Given the description of an element on the screen output the (x, y) to click on. 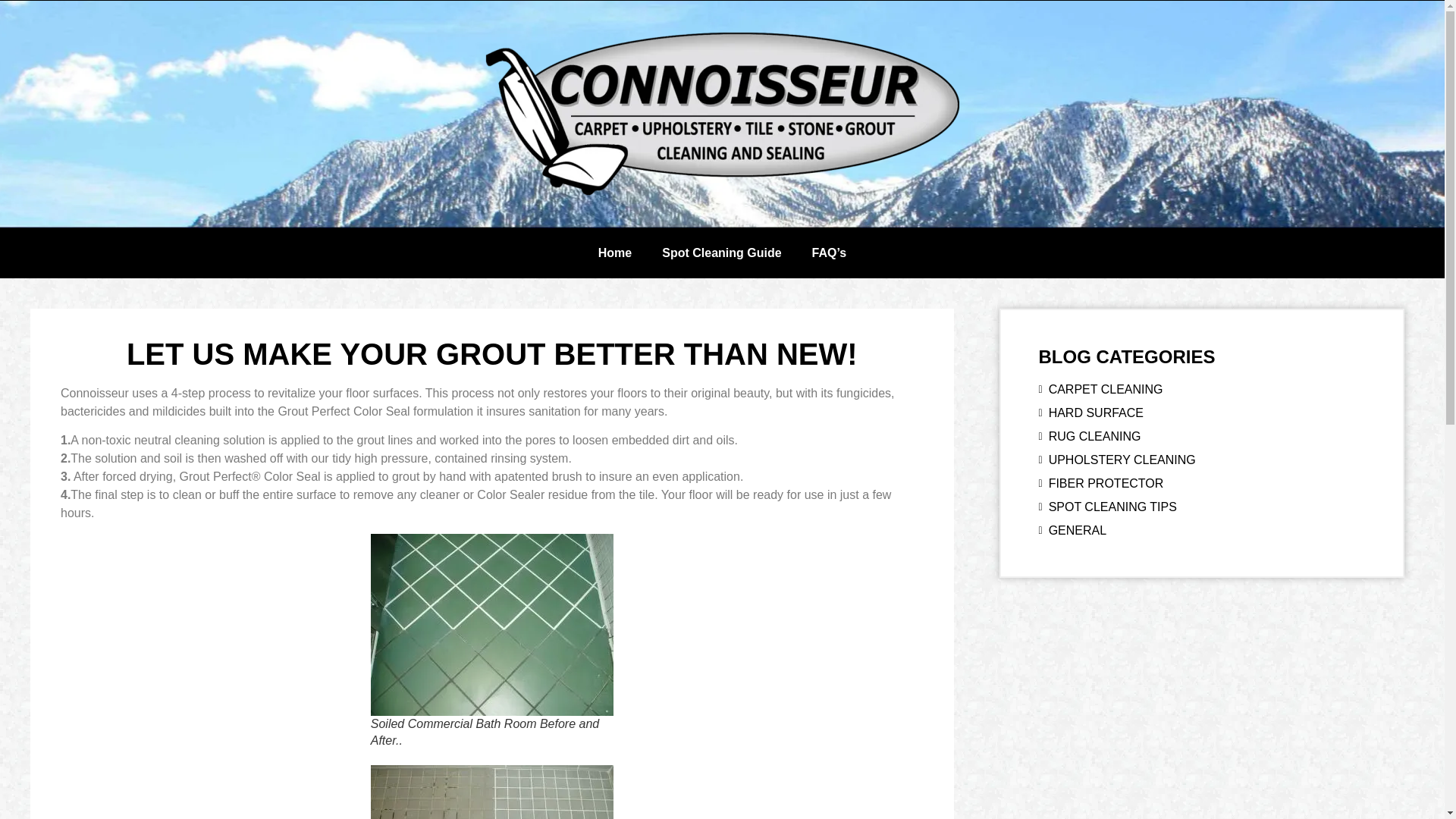
Spot Cleaning Guide (721, 253)
HARD SURFACE (1202, 412)
SPOT CLEANING TIPS (1202, 506)
GENERAL (1202, 530)
CARPET CLEANING (1202, 389)
Home (614, 253)
UPHOLSTERY CLEANING (1202, 459)
FIBER PROTECTOR (1202, 483)
RUG CLEANING (1202, 436)
